Given the description of an element on the screen output the (x, y) to click on. 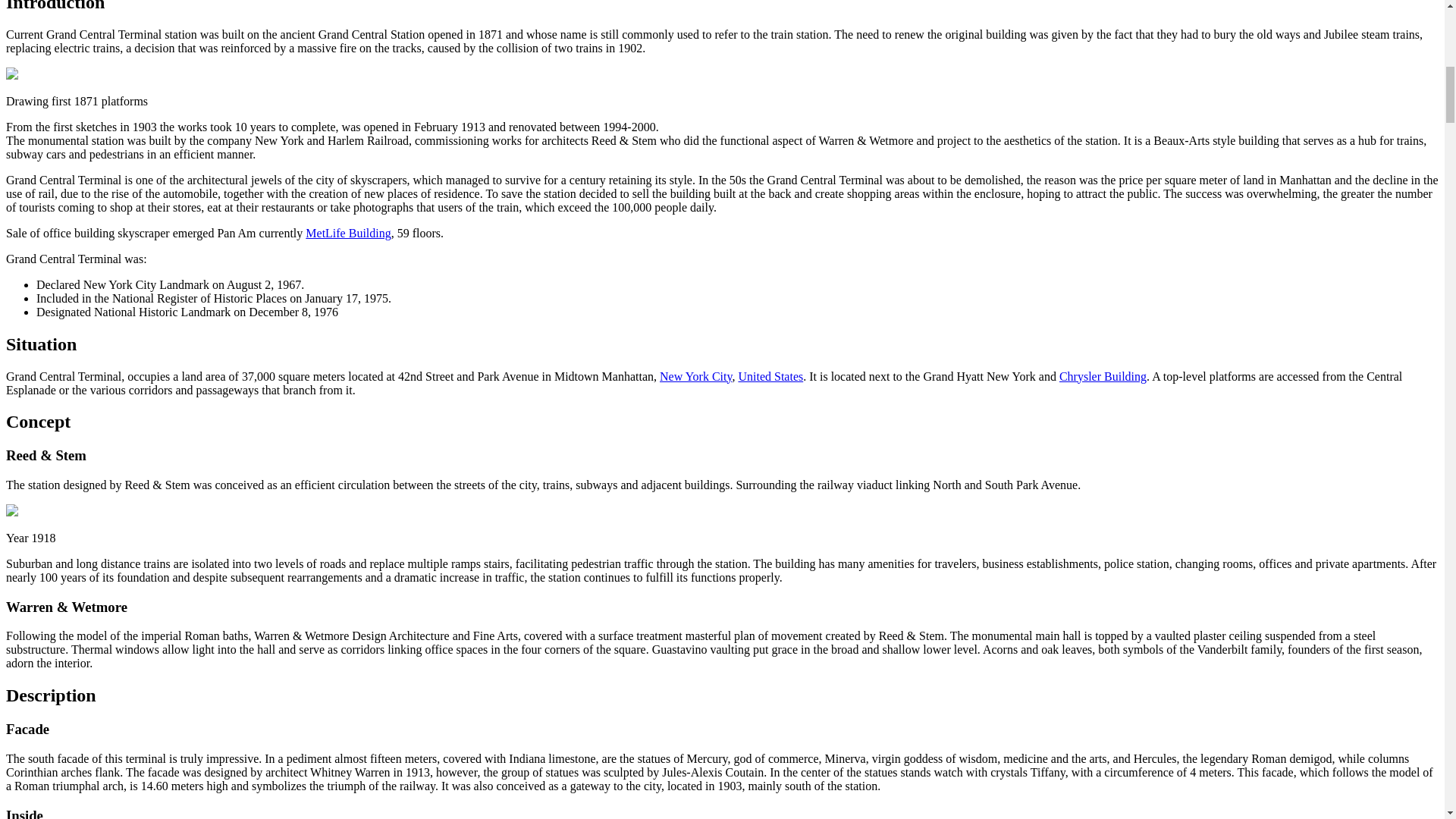
New York City (695, 376)
United States (770, 376)
MetLife Building (347, 232)
Chrysler Building (1103, 376)
